Given the description of an element on the screen output the (x, y) to click on. 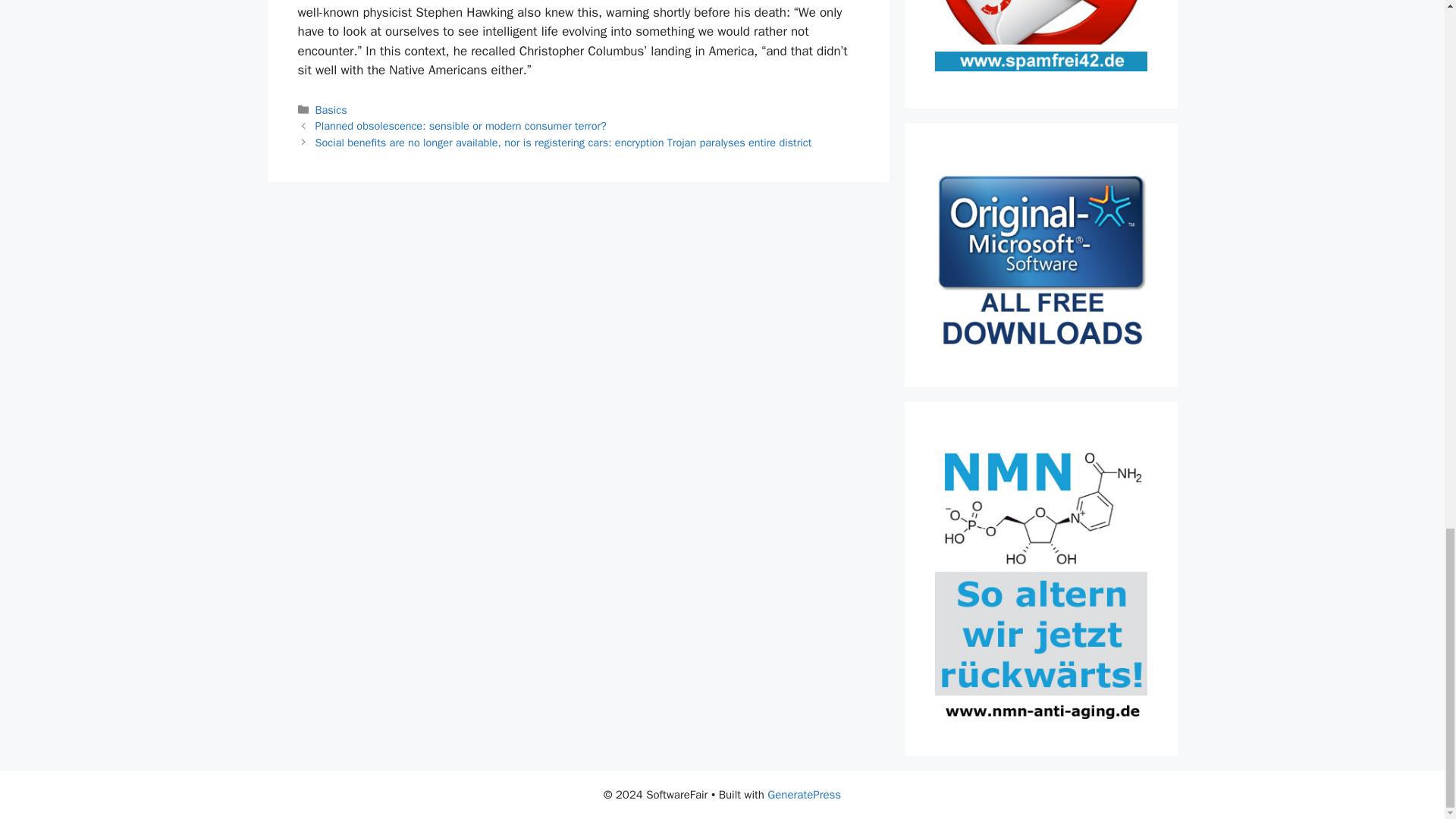
Previous (461, 125)
Next (563, 142)
Basics (331, 110)
Planned obsolescence: sensible or modern consumer terror? (461, 125)
GeneratePress (804, 794)
